Given the description of an element on the screen output the (x, y) to click on. 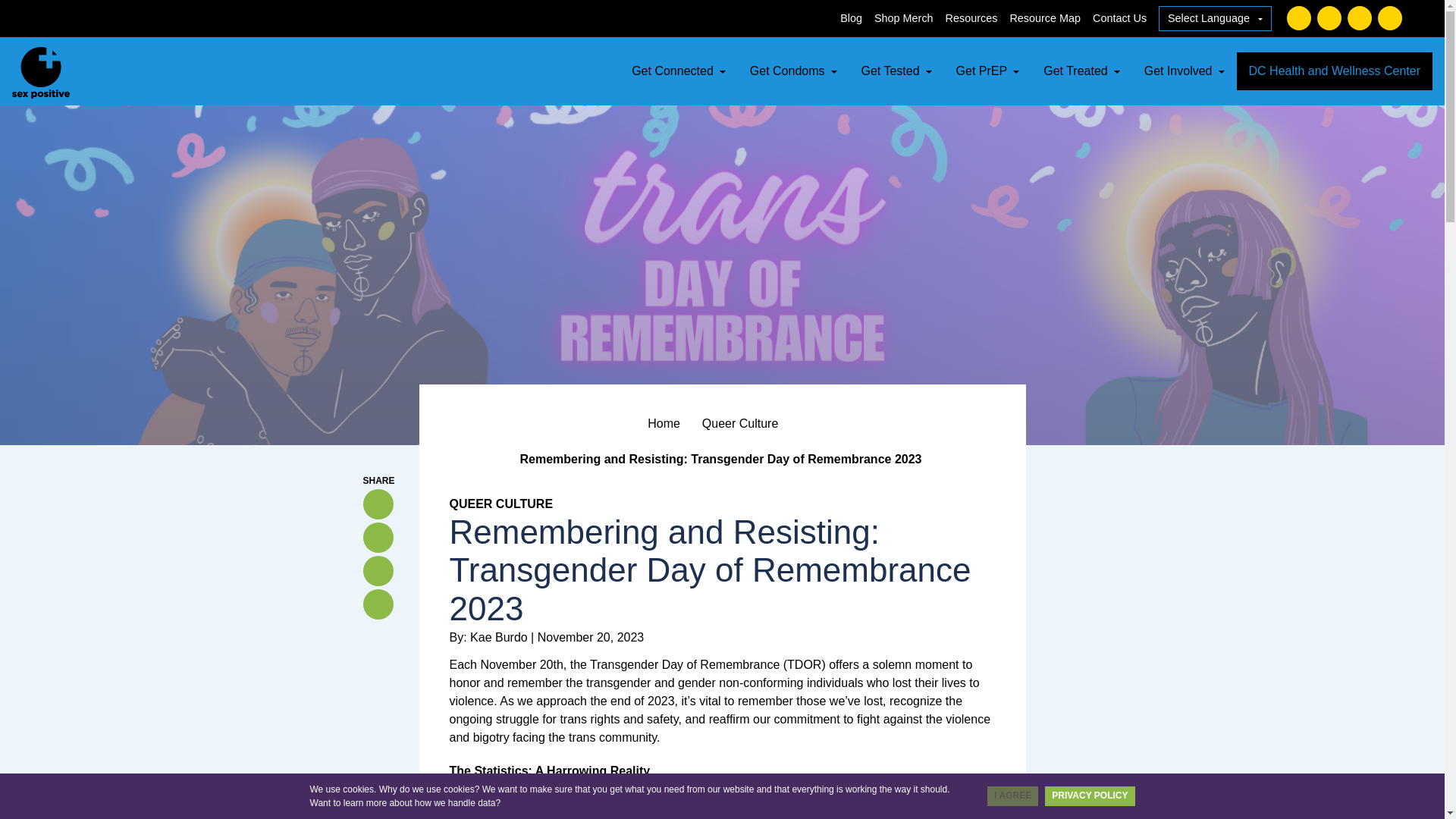
Toggle Search (1424, 17)
Instagram (1359, 17)
Blog (850, 18)
Facebook (1299, 17)
Get Connected (679, 70)
Shop Merch (904, 18)
Sex Positive (40, 71)
YouTube (1389, 17)
Get Condoms (793, 70)
Resources (970, 18)
Get Tested (895, 70)
Twitter (1328, 17)
Resource Map (1044, 18)
Contact Us (1120, 18)
